Given the description of an element on the screen output the (x, y) to click on. 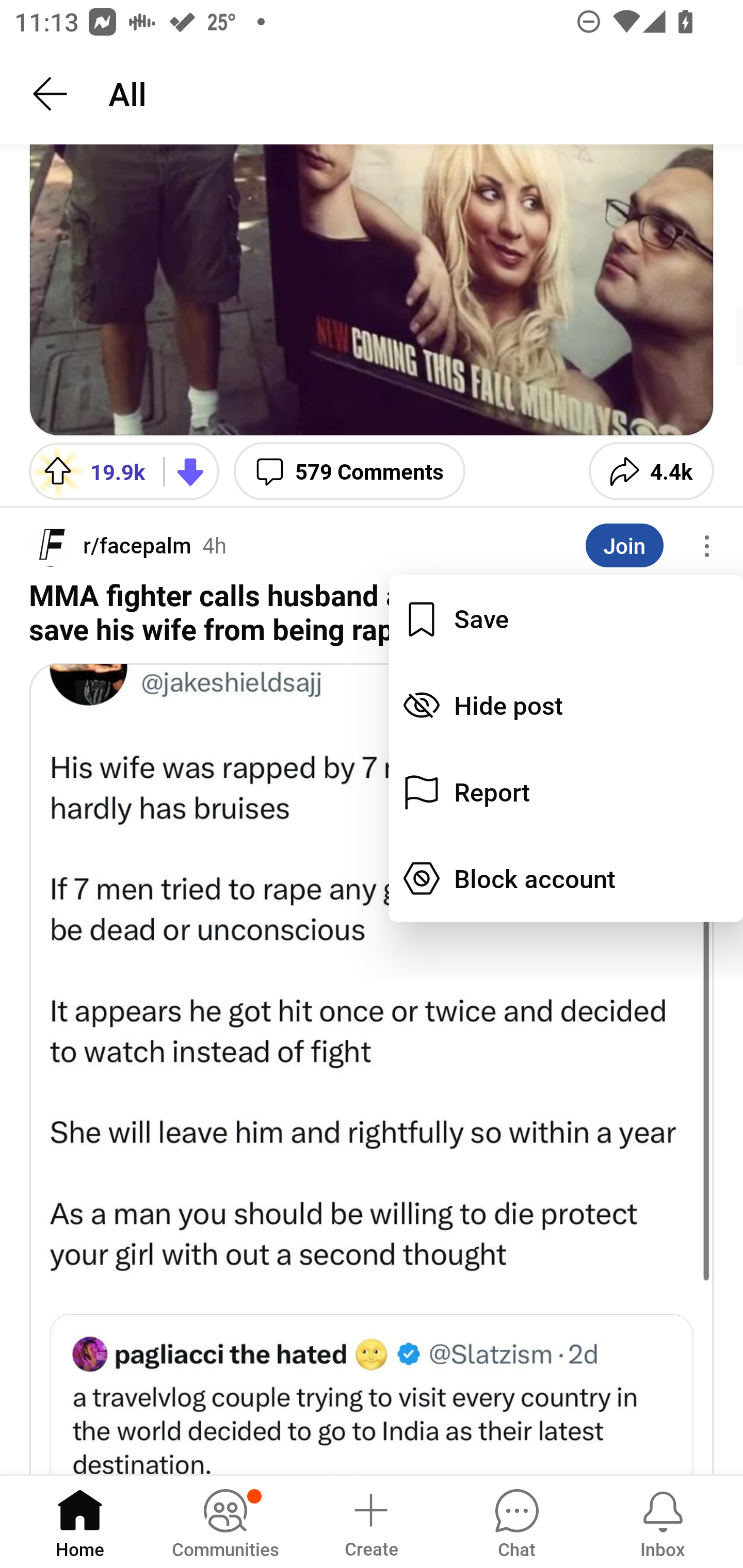
Save (566, 618)
Hide post (566, 704)
Report (566, 791)
Block account (566, 878)
